Given the description of an element on the screen output the (x, y) to click on. 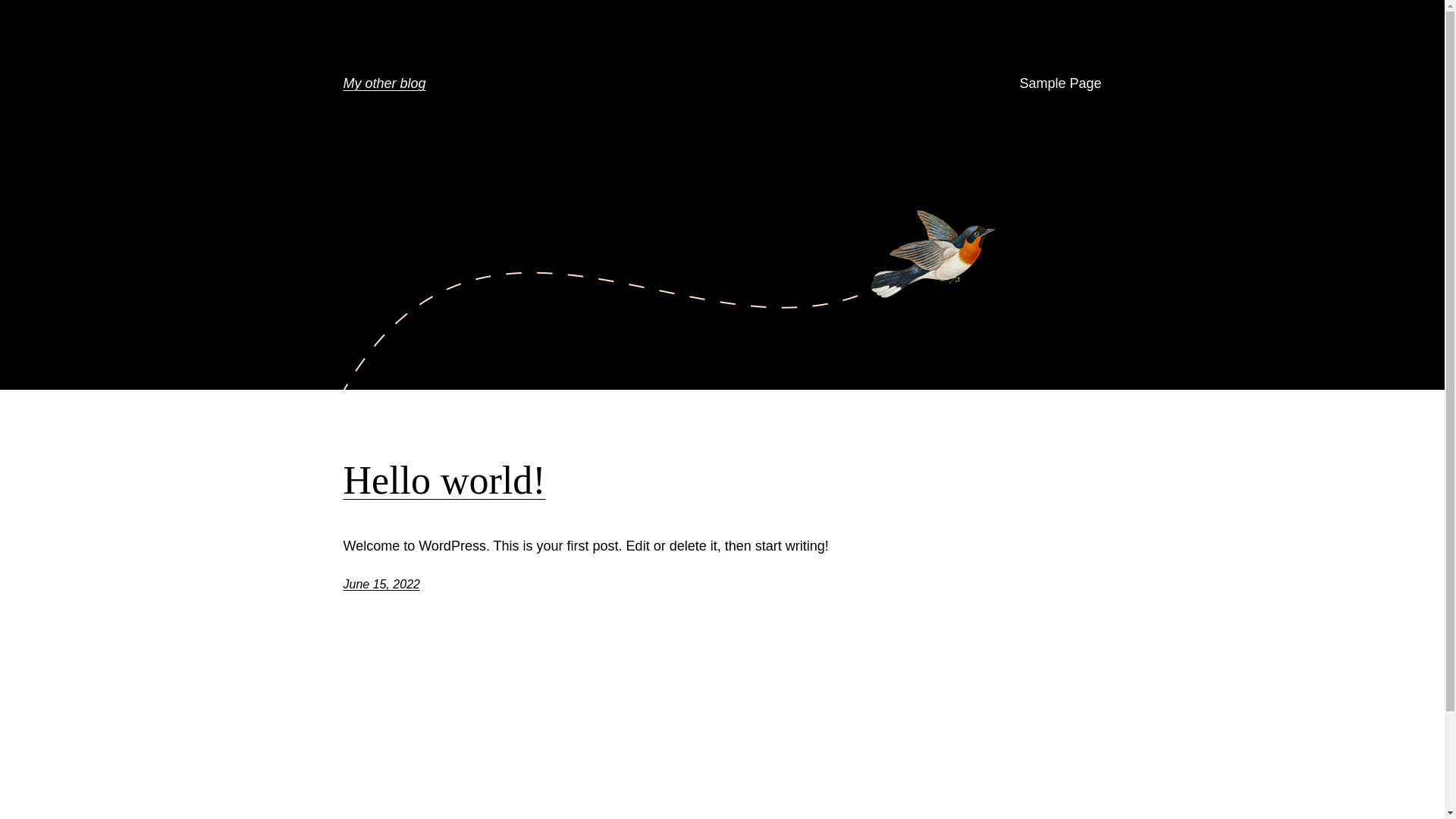
June 15, 2022 Element type: text (380, 583)
Sample Page Element type: text (1060, 83)
My other blog Element type: text (383, 83)
Hello world! Element type: text (443, 480)
